Given the description of an element on the screen output the (x, y) to click on. 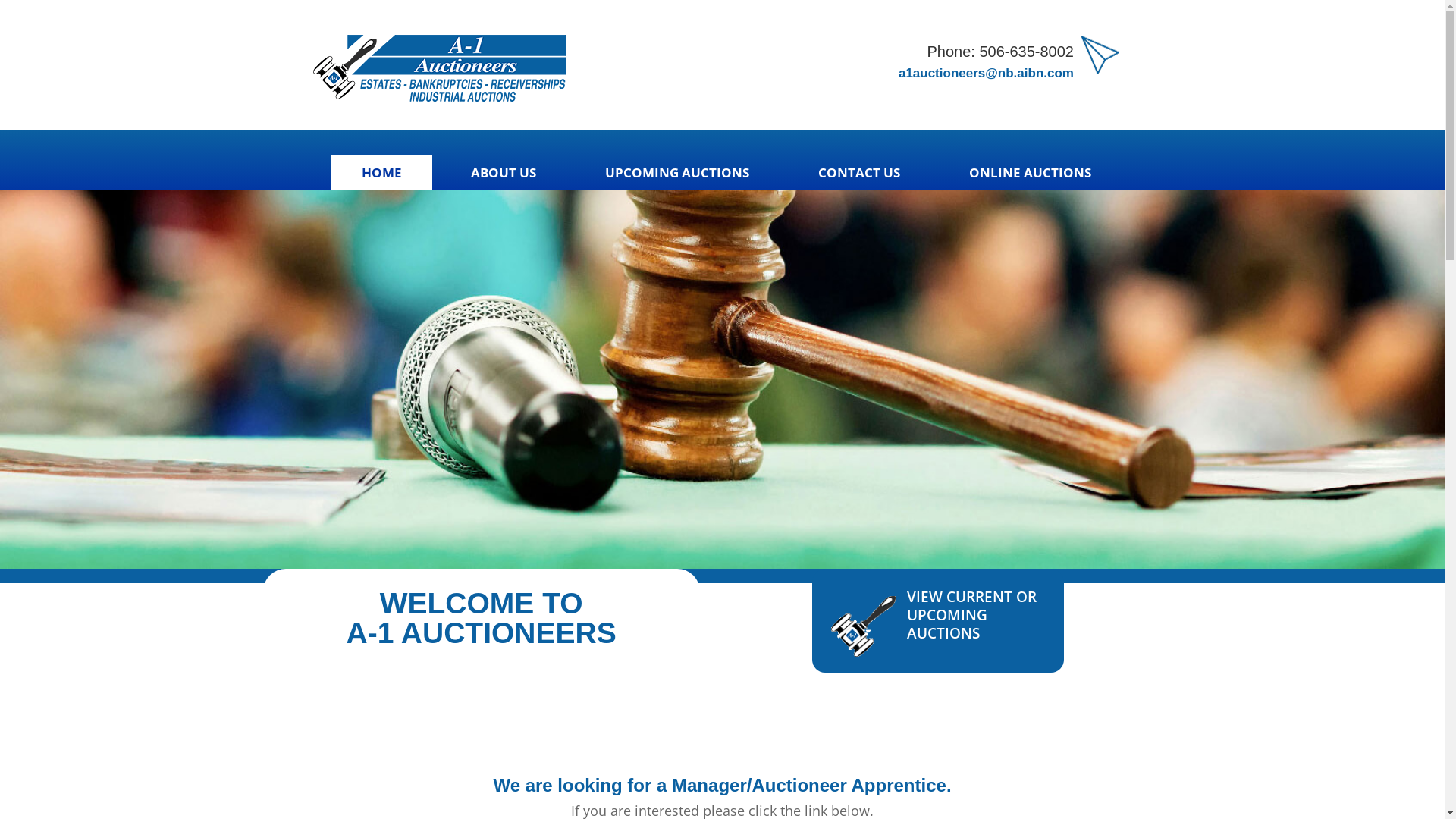
a1auctioneers@nb.aibn.com Element type: text (985, 72)
CONTACT US Element type: text (858, 172)
ABOUT US Element type: text (503, 172)
Phone: 506-635-8002 Element type: text (999, 51)
UPCOMING AUCTIONS Element type: text (676, 172)
HOME Element type: text (381, 172)
ONLINE AUCTIONS Element type: text (1029, 172)
